Given the description of an element on the screen output the (x, y) to click on. 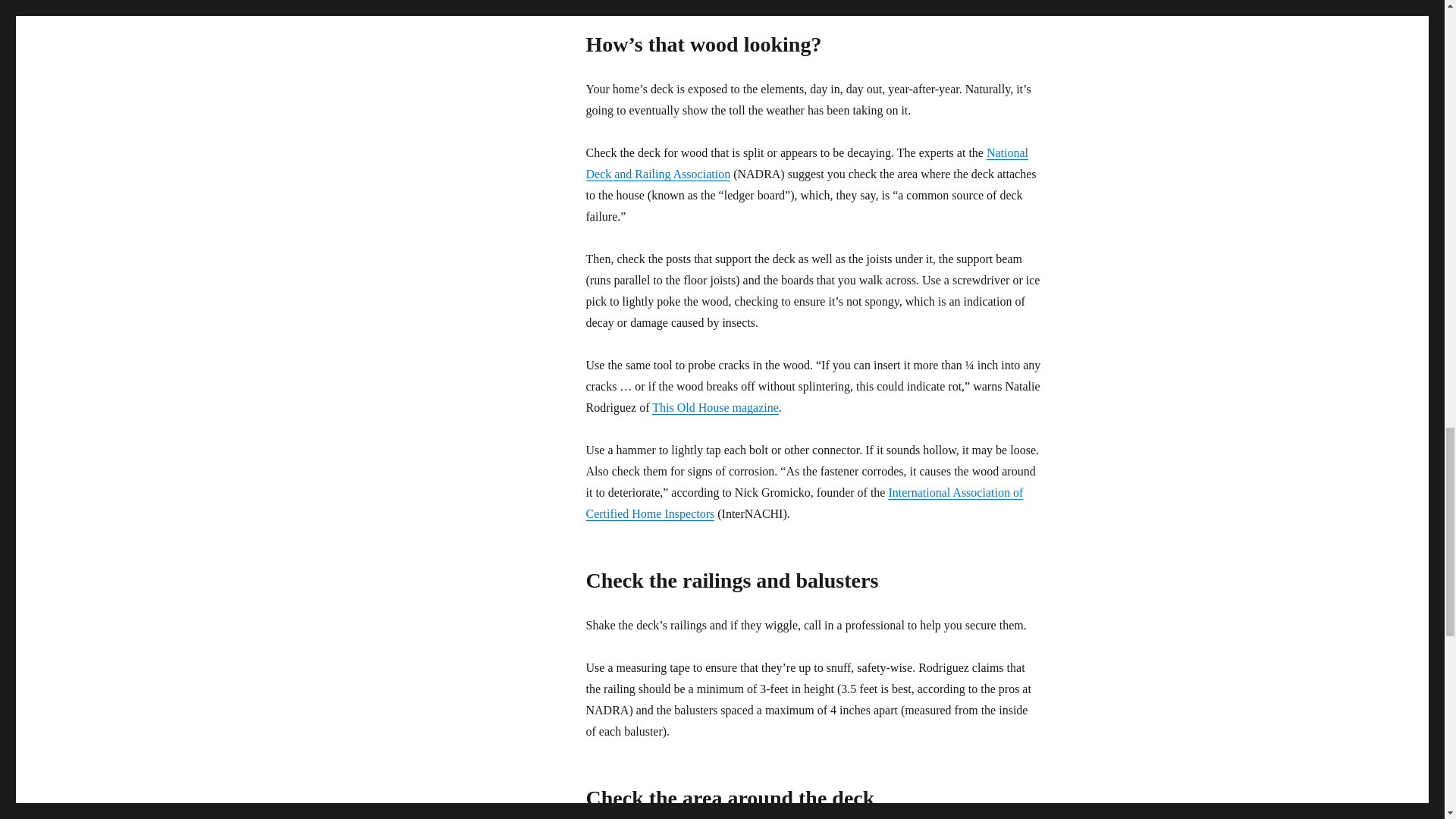
International Association of Certified Home Inspectors (804, 503)
This Old House magazine (715, 407)
National Deck and Railing Association (806, 163)
